Given the description of an element on the screen output the (x, y) to click on. 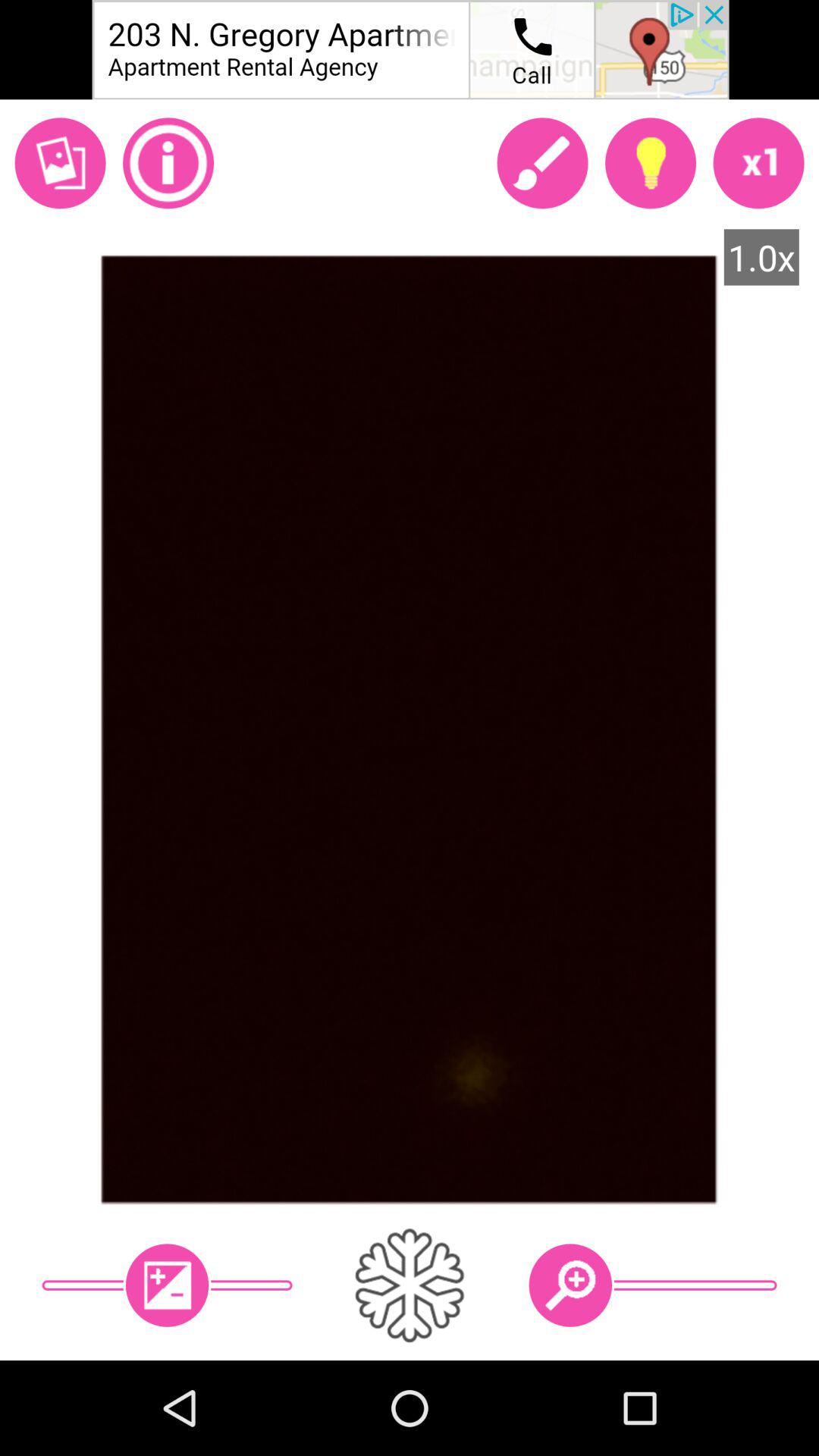
announcement (409, 49)
